Given the description of an element on the screen output the (x, y) to click on. 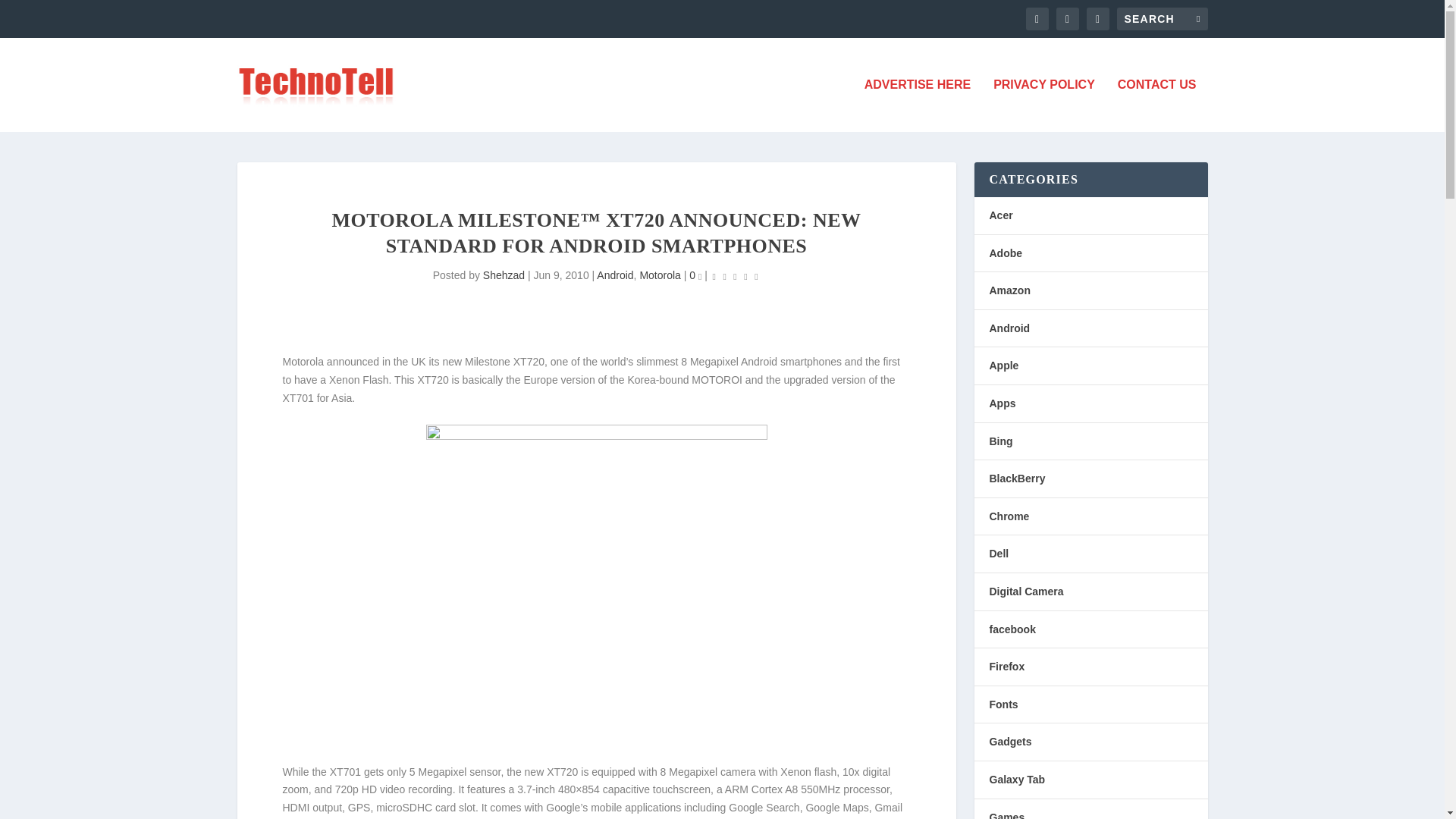
Posts by Shehzad (503, 275)
Motorola (659, 275)
Search for: (1161, 18)
PRIVACY POLICY (1043, 104)
CONTACT US (1157, 104)
Acer (999, 215)
Apple (1002, 365)
Motorola-Milestone-XT720-Android-Smartphone-Announced (596, 585)
Android (1008, 328)
Android (614, 275)
Adobe (1005, 253)
0 (694, 275)
Shehzad (503, 275)
Rating: 0.00 (735, 275)
Amazon (1008, 290)
